Given the description of an element on the screen output the (x, y) to click on. 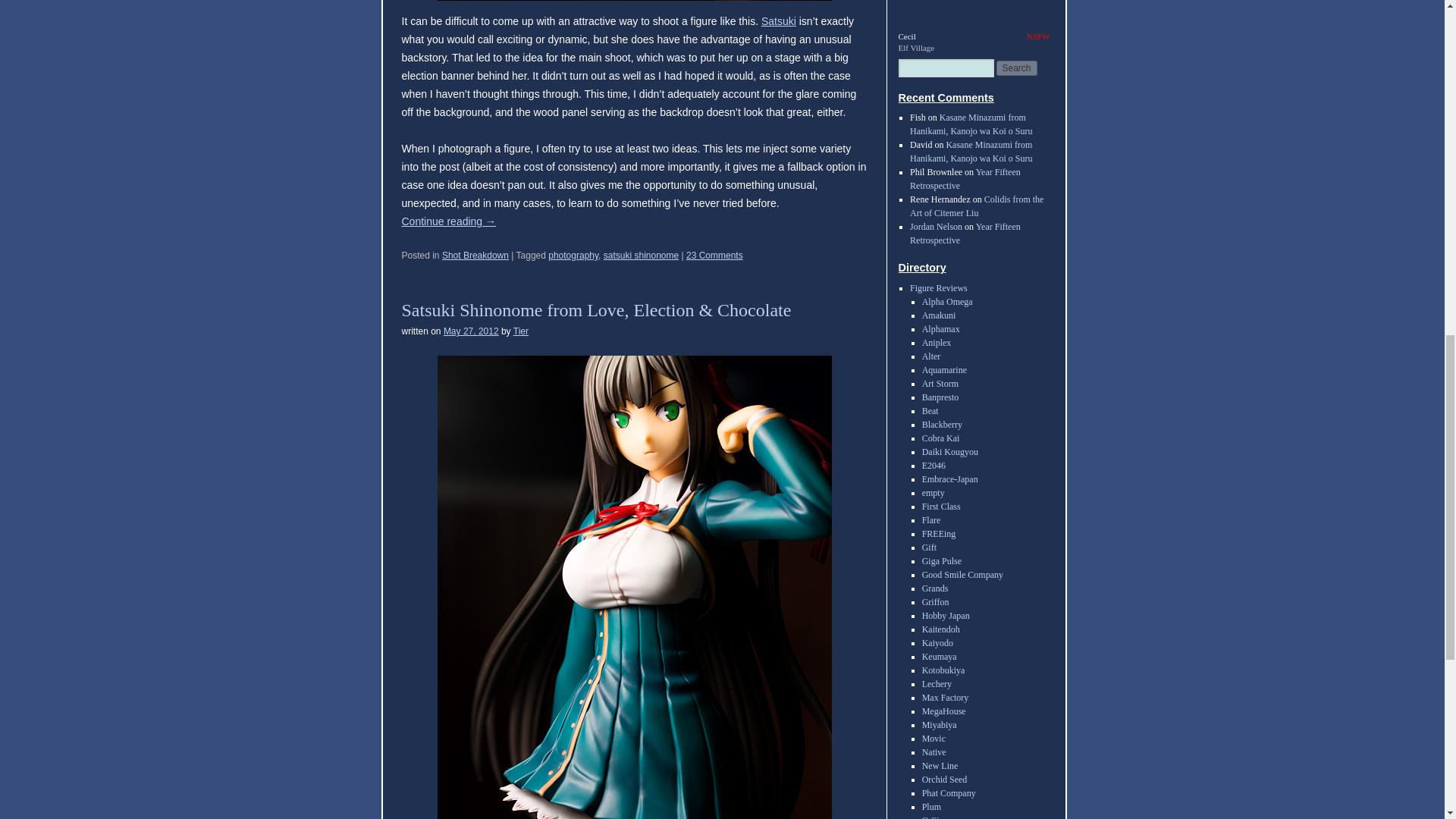
satsuki shinonome (641, 255)
May 27, 2012 (471, 330)
7:44 PM (471, 330)
Shot Breakdown (475, 255)
Tier (520, 330)
photography (573, 255)
View all posts by Tier (520, 330)
23 Comments (713, 255)
Satsuki (778, 21)
Search (1015, 68)
